Given the description of an element on the screen output the (x, y) to click on. 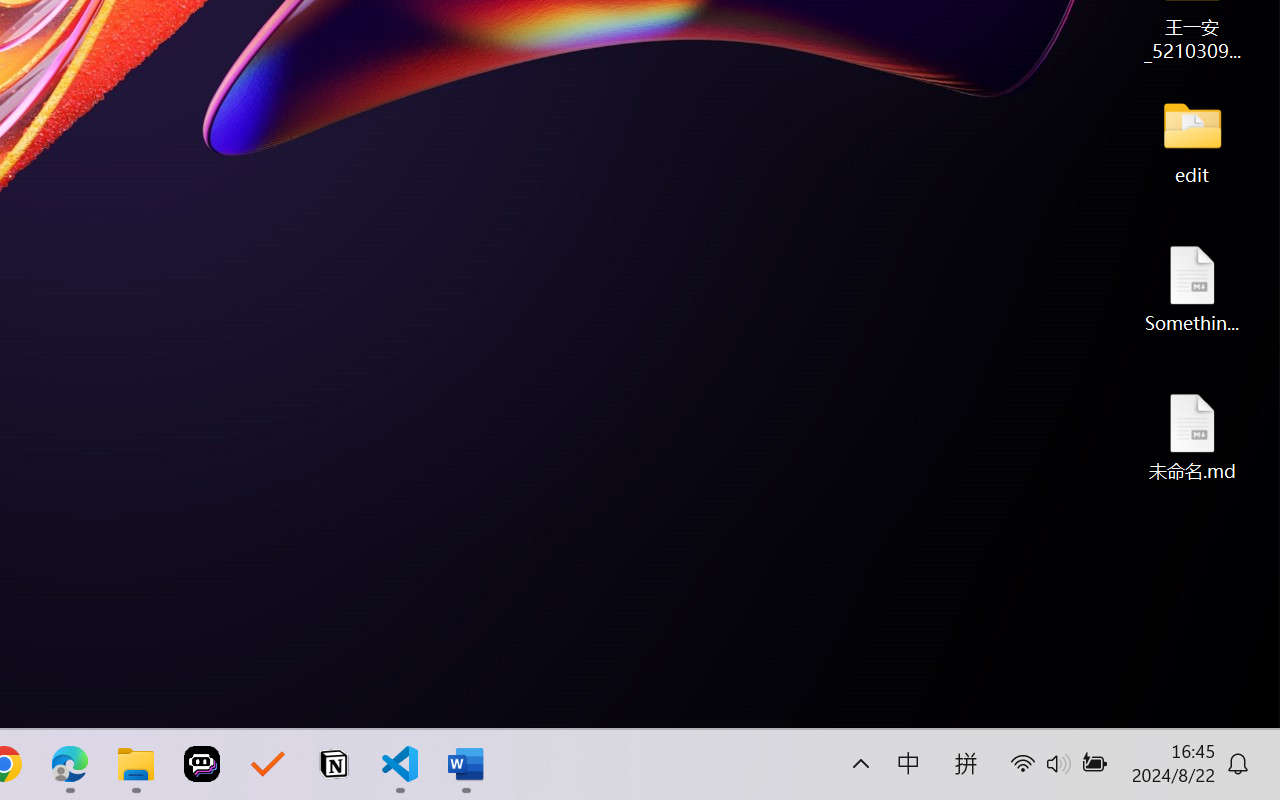
Something.md (1192, 288)
